Given the description of an element on the screen output the (x, y) to click on. 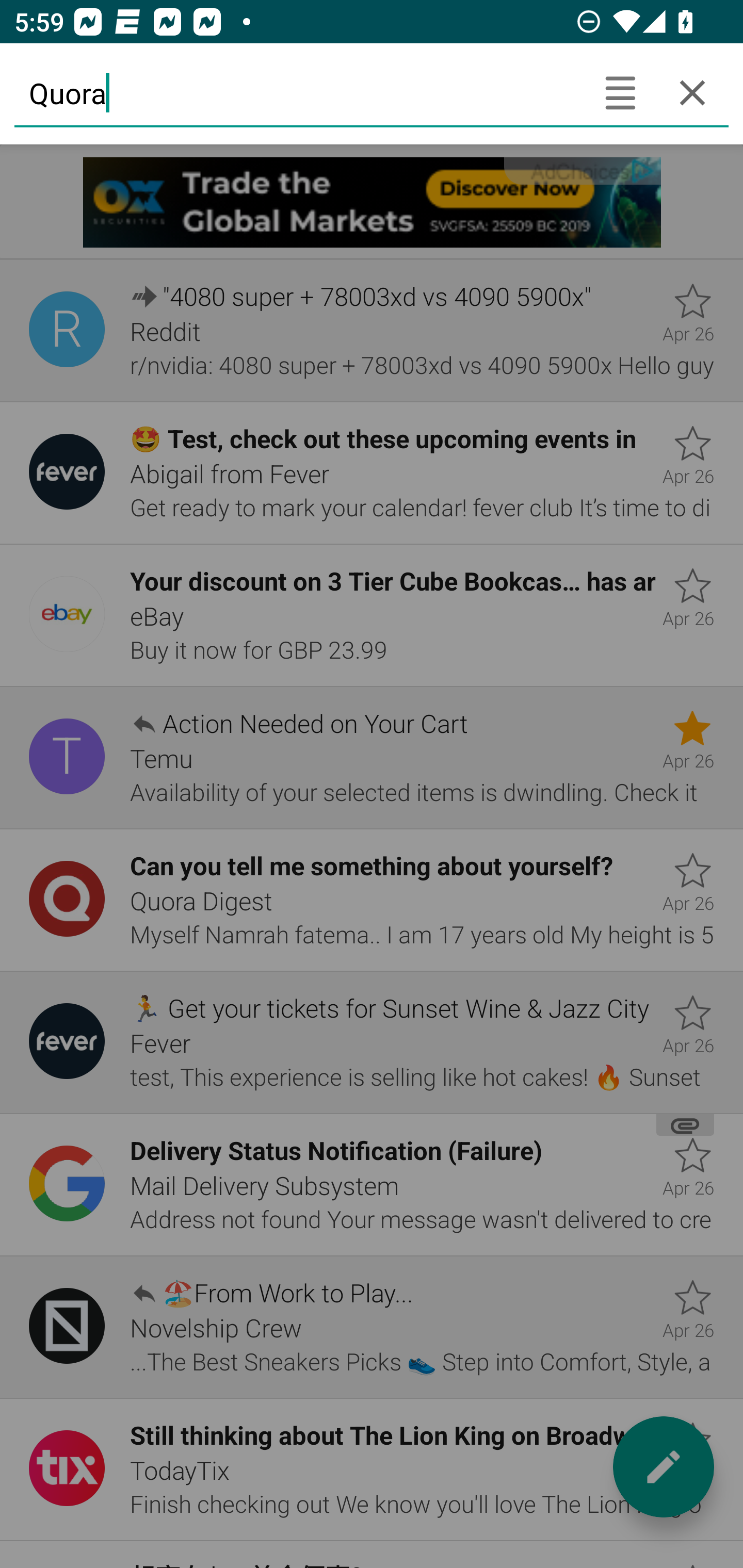
Quora (298, 92)
Search headers only (619, 92)
Cancel (692, 92)
